Given the description of an element on the screen output the (x, y) to click on. 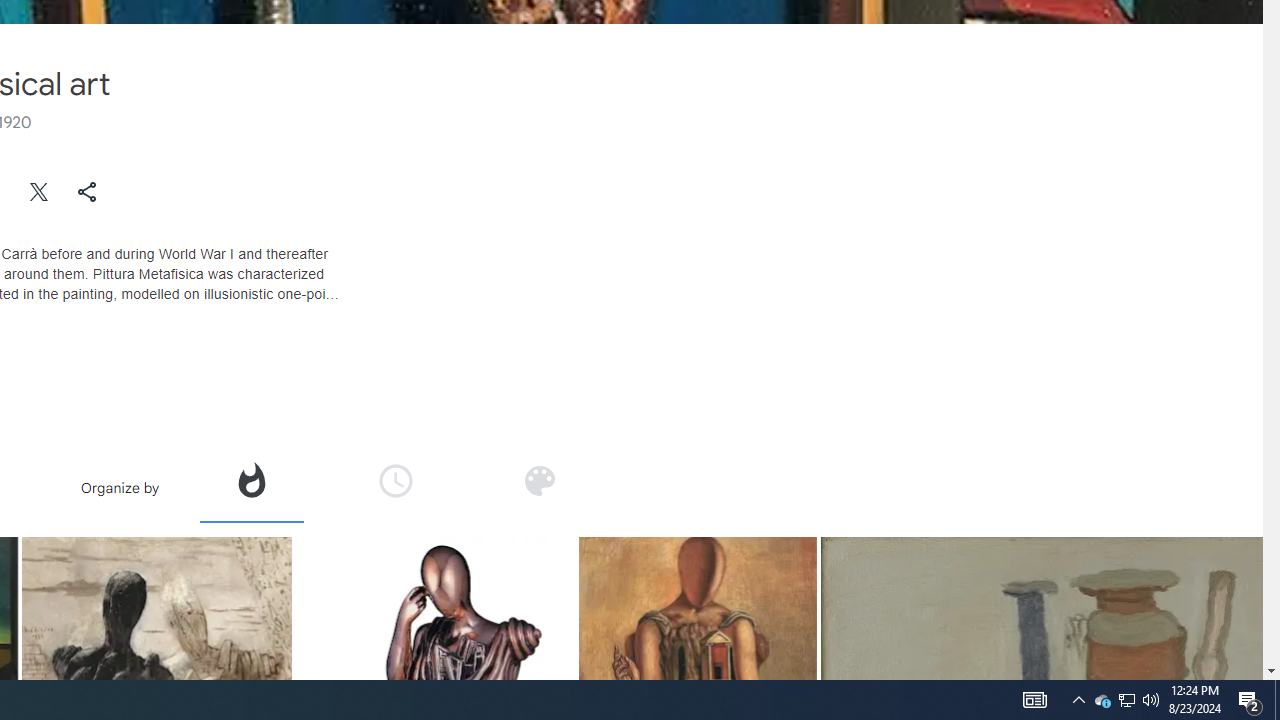
Organize by color (538, 487)
Organize by color (539, 480)
Share "Metaphysical art" (87, 191)
Organize by popularity (250, 480)
Organize by time (395, 480)
The solitary archaeologist (697, 615)
Organize by time (395, 487)
Organize by popularity (251, 487)
Share on Twitter (39, 191)
